Given the description of an element on the screen output the (x, y) to click on. 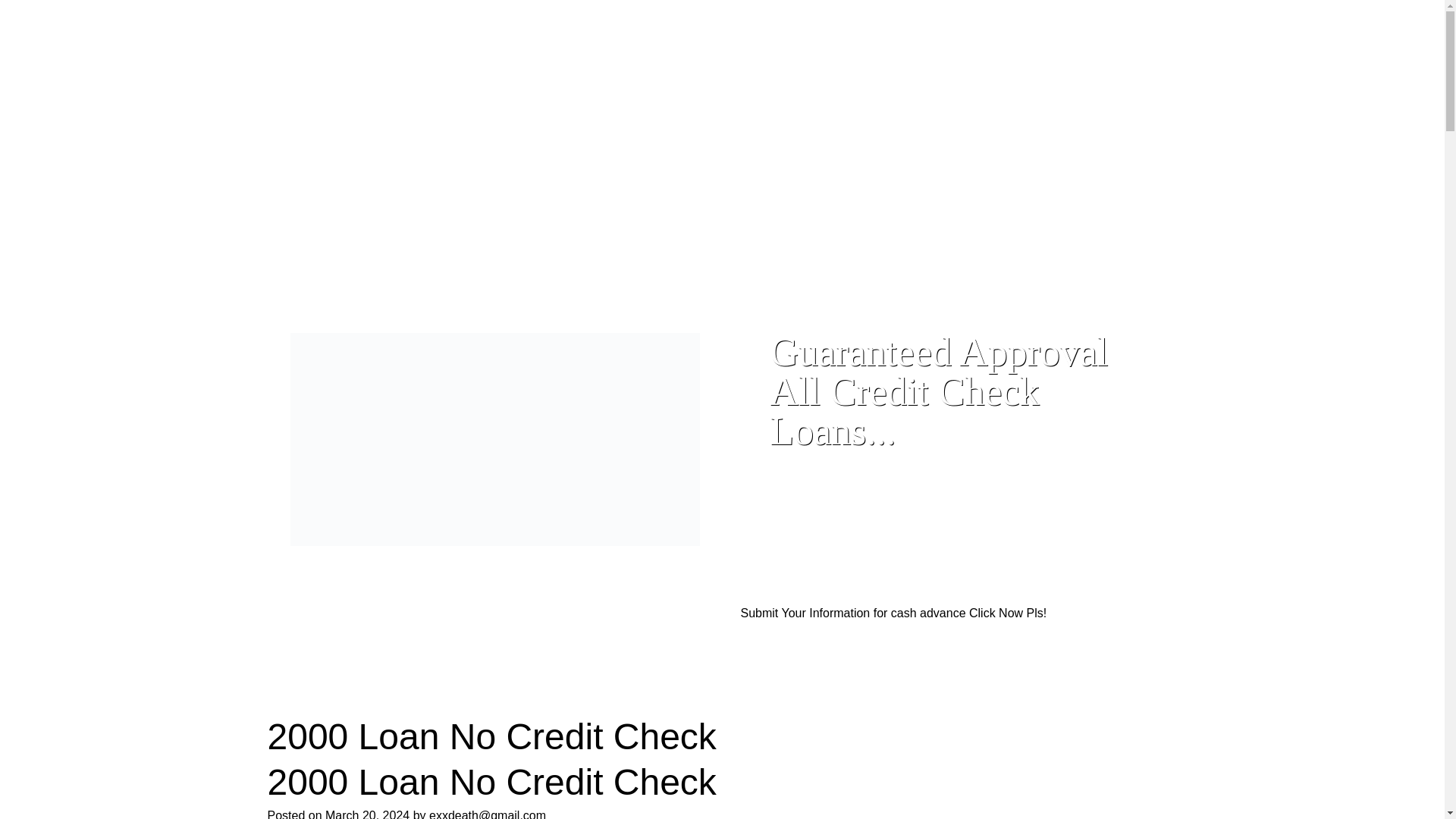
Get Personal Loans.. (915, 98)
Get Auto Title Loans.. (1030, 58)
2000 Loan No Credit Check (491, 782)
Safe Online Loans 24 Hours.. (419, 99)
Safe Online Loans 24 Hours.. (419, 99)
March 20, 2024 (366, 814)
Submit Your Information for cash advance Click Now Pls! (892, 612)
12:29 am (366, 814)
